Given the description of an element on the screen output the (x, y) to click on. 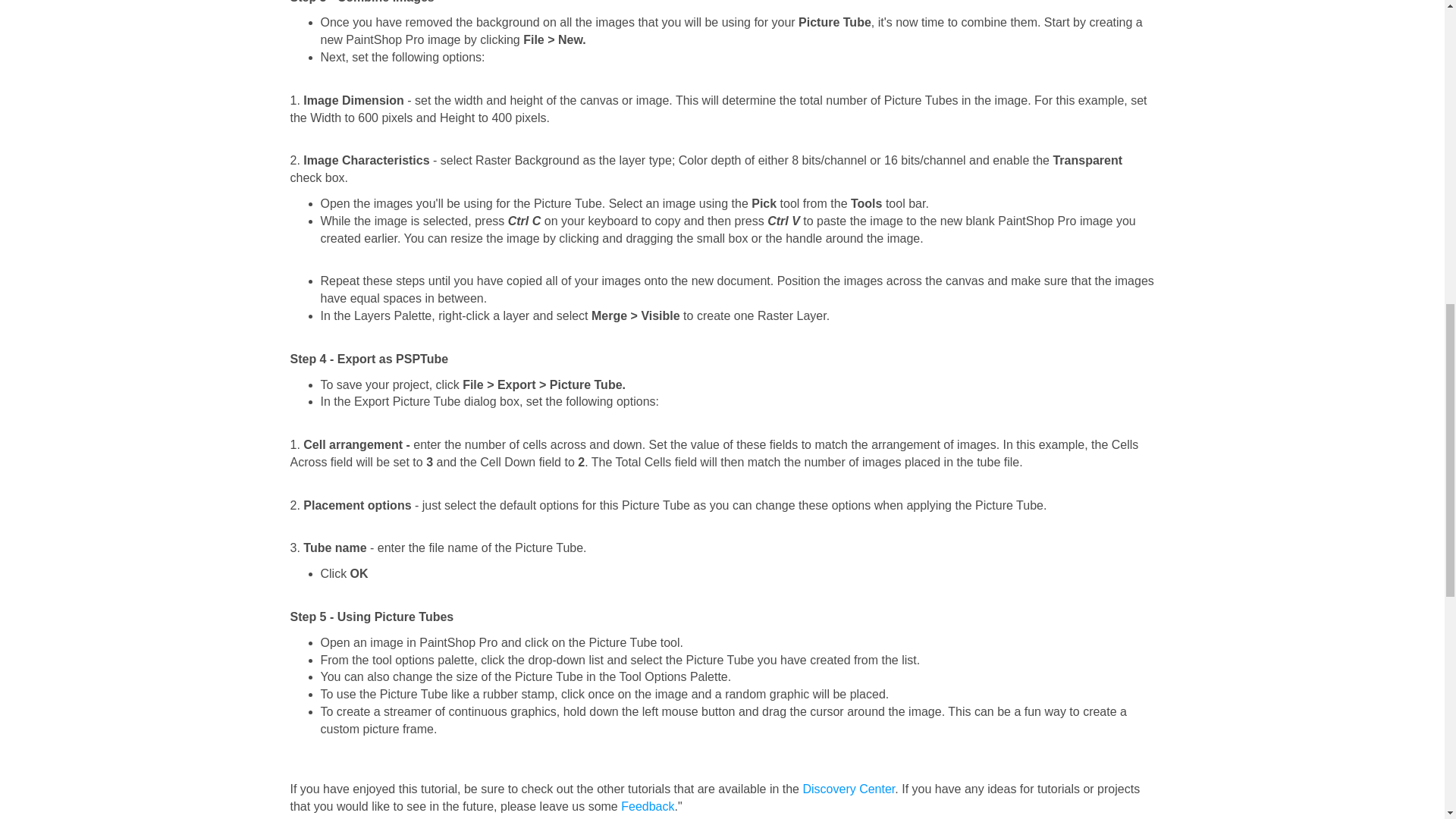
Discovery Center (848, 788)
Feedback (647, 806)
